Given the description of an element on the screen output the (x, y) to click on. 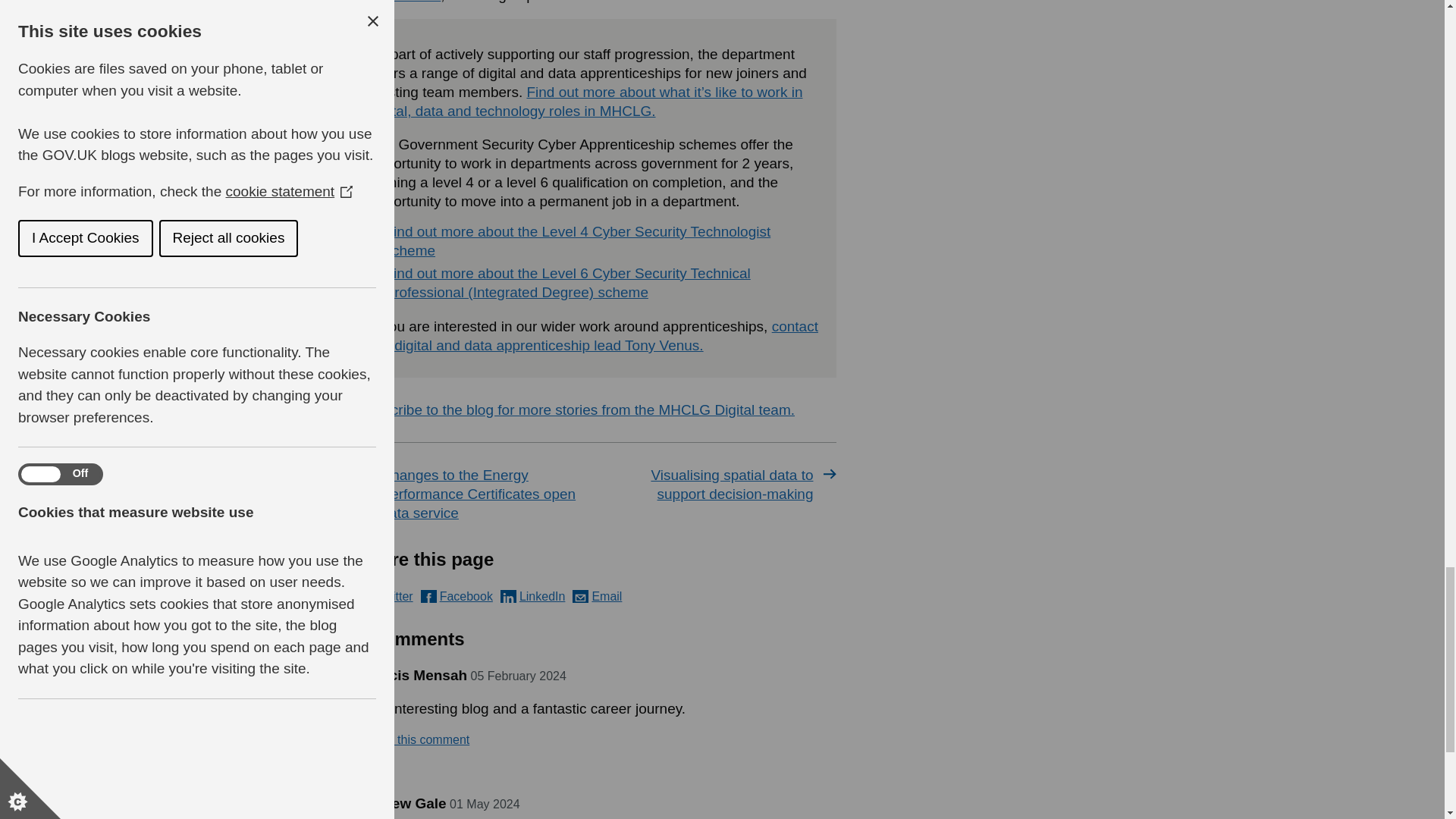
LinkedIn (533, 595)
Link to this comment (413, 739)
Visualising spatial data to support decision-making (718, 484)
Facebook (456, 595)
Email (596, 595)
contact our digital and data apprenticeship lead Tony Venus. (593, 335)
